Given the description of an element on the screen output the (x, y) to click on. 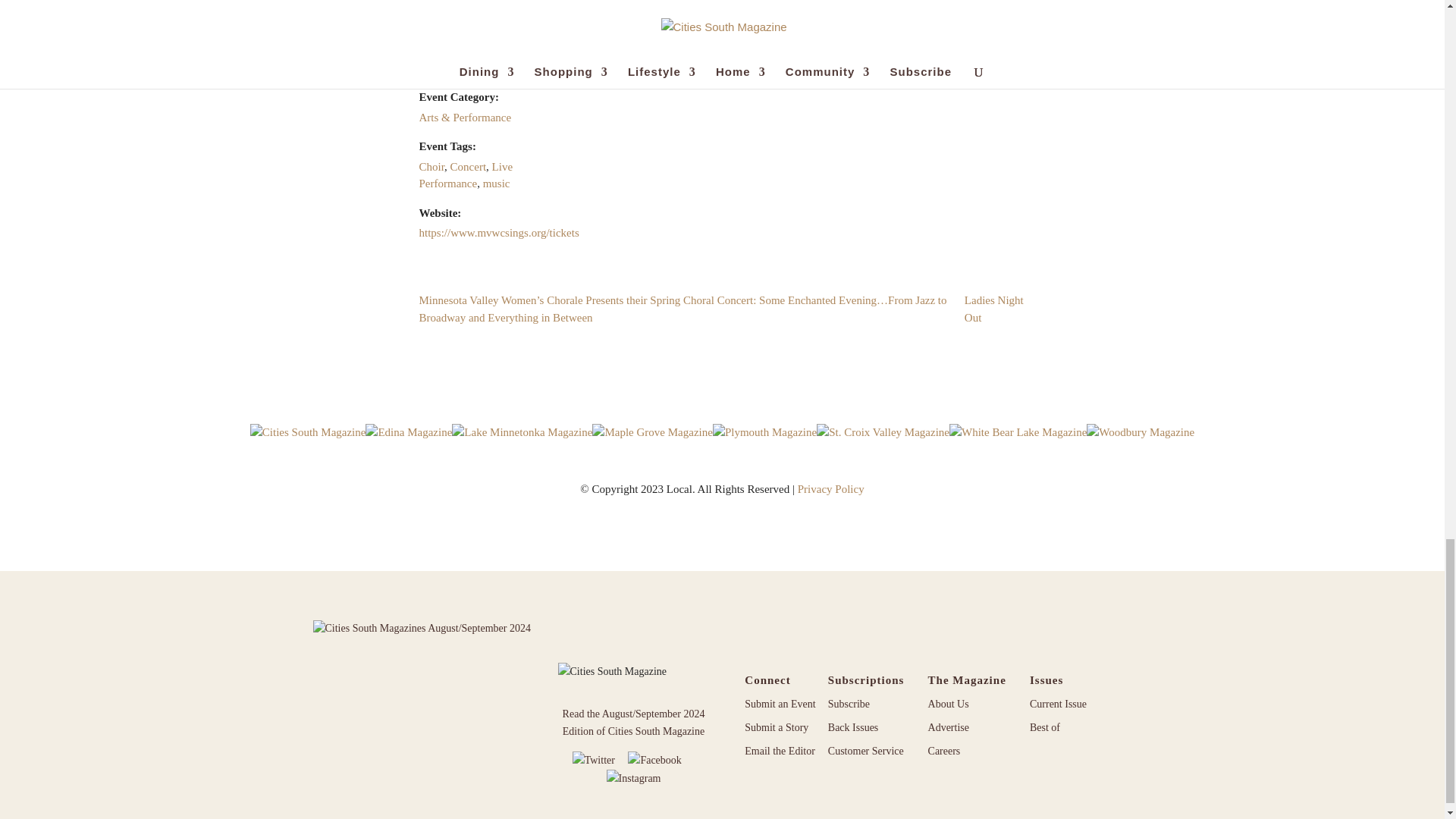
2023-05-06 (482, 18)
Minnesota (771, 4)
Click to view a Google Map (765, 13)
